Given the description of an element on the screen output the (x, y) to click on. 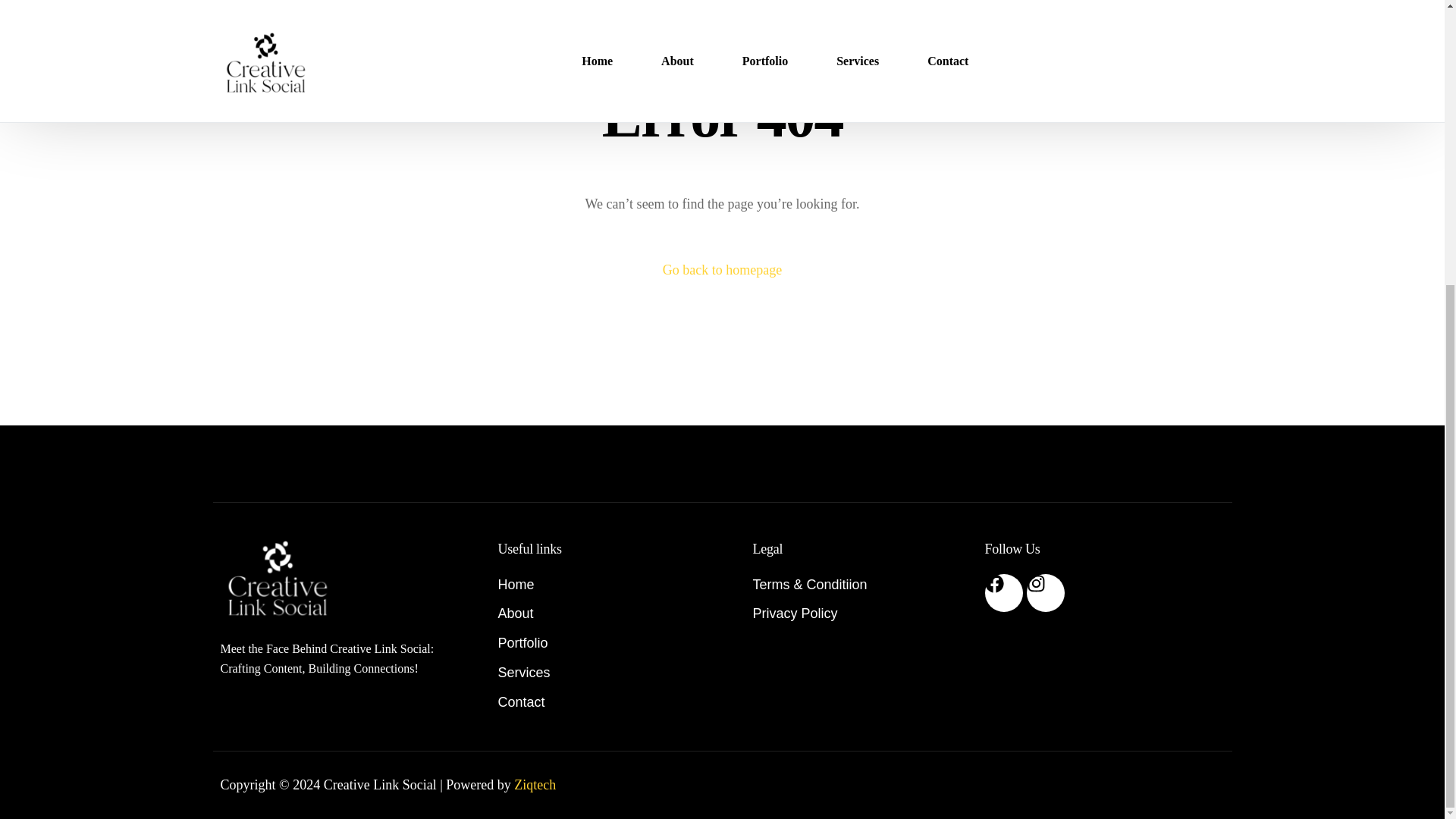
Privacy Policy (860, 613)
Contact (605, 702)
Home (605, 585)
Go back to homepage (721, 270)
Portfolio (605, 643)
Ziqtech (534, 784)
Services (605, 672)
About (605, 613)
